Given the description of an element on the screen output the (x, y) to click on. 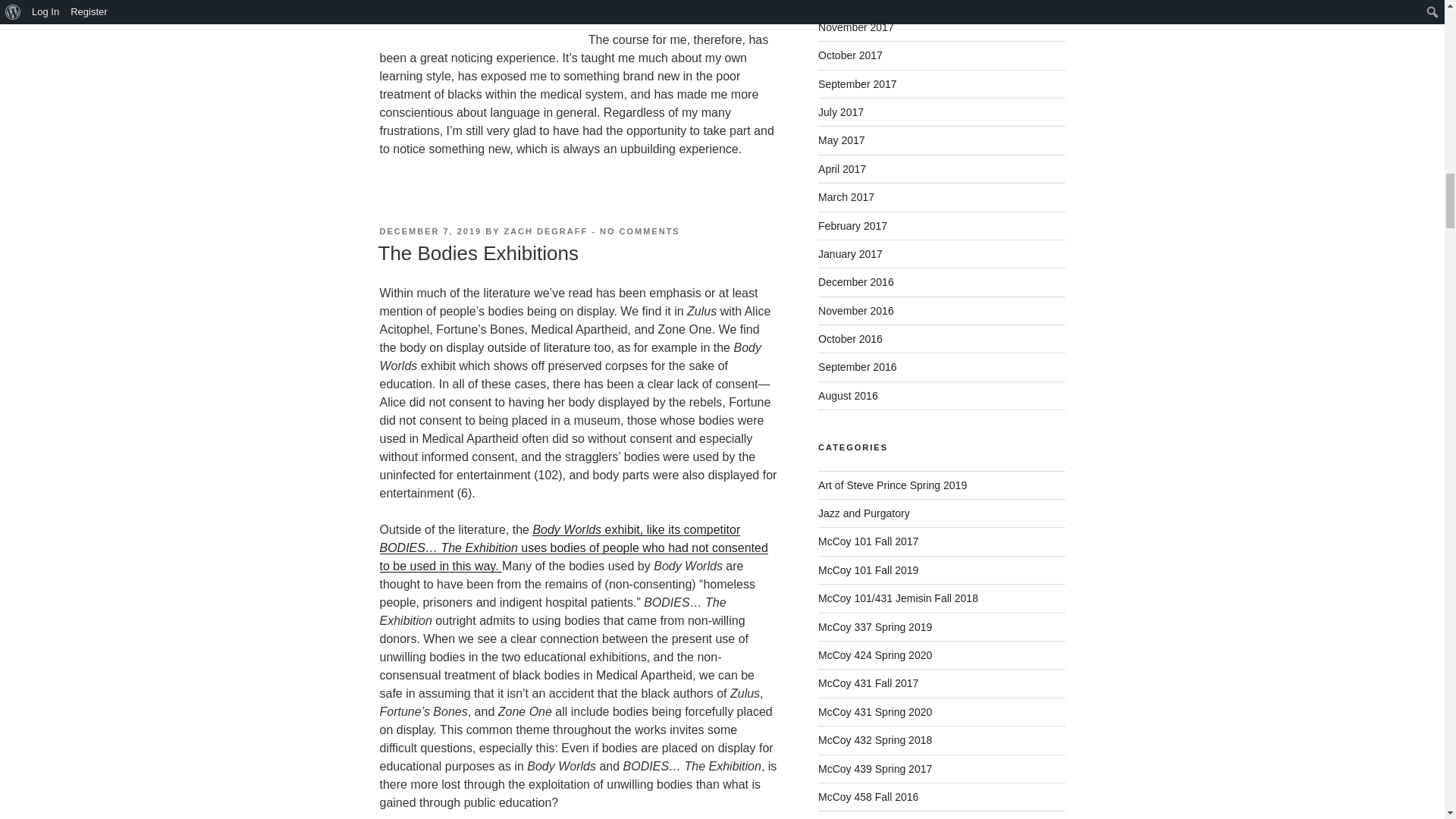
DECEMBER 7, 2019 (429, 230)
The Bodies Exhibitions (477, 252)
ZACH DEGRAFF (545, 230)
